Given the description of an element on the screen output the (x, y) to click on. 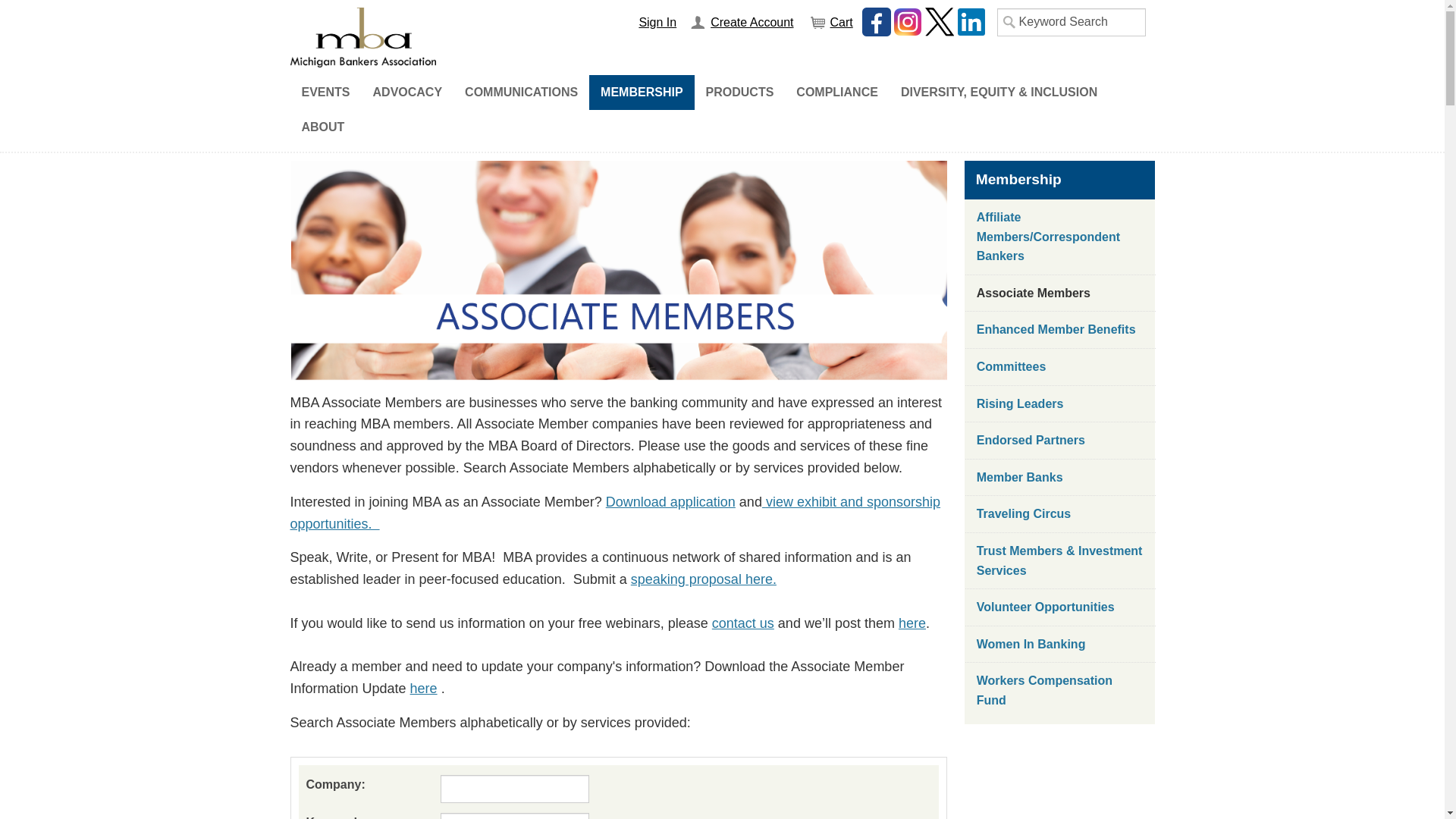
Create Account Element type: text (742, 22)
Affiliate Members/Correspondent Bankers Element type: text (1060, 236)
COMPLIANCE Element type: text (836, 92)
Trust Members & Investment Services Element type: text (1060, 560)
Endorsed Partners Element type: text (1060, 440)
ADVOCACY Element type: text (407, 92)
here Element type: text (911, 622)
Sign In Element type: text (657, 21)
Member Banks Element type: text (1060, 477)
EVENTS Element type: text (324, 92)
Volunteer Opportunities Element type: text (1060, 606)
contact us Element type: text (743, 622)
MEMBERSHIP Element type: text (641, 92)
PRODUCTS Element type: text (739, 92)
here Element type: text (423, 688)
Committees Element type: text (1060, 366)
Workers Compensation Fund Element type: text (1060, 690)
Go Element type: text (16, 14)
ABOUT Element type: text (322, 126)
Associate Members Element type: text (1060, 293)
Download application Element type: text (670, 501)
Cart Element type: text (831, 22)
Traveling Circus Element type: text (1060, 513)
speaking proposal here. Element type: text (703, 578)
Rising Leaders Element type: text (1060, 403)
view exhibit and sponsorship opportunities.   Element type: text (614, 512)
DIVERSITY, EQUITY & INCLUSION Element type: text (998, 92)
COMMUNICATIONS Element type: text (521, 92)
Women In Banking Element type: text (1060, 644)
Enhanced Member Benefits Element type: text (1060, 329)
